Given the description of an element on the screen output the (x, y) to click on. 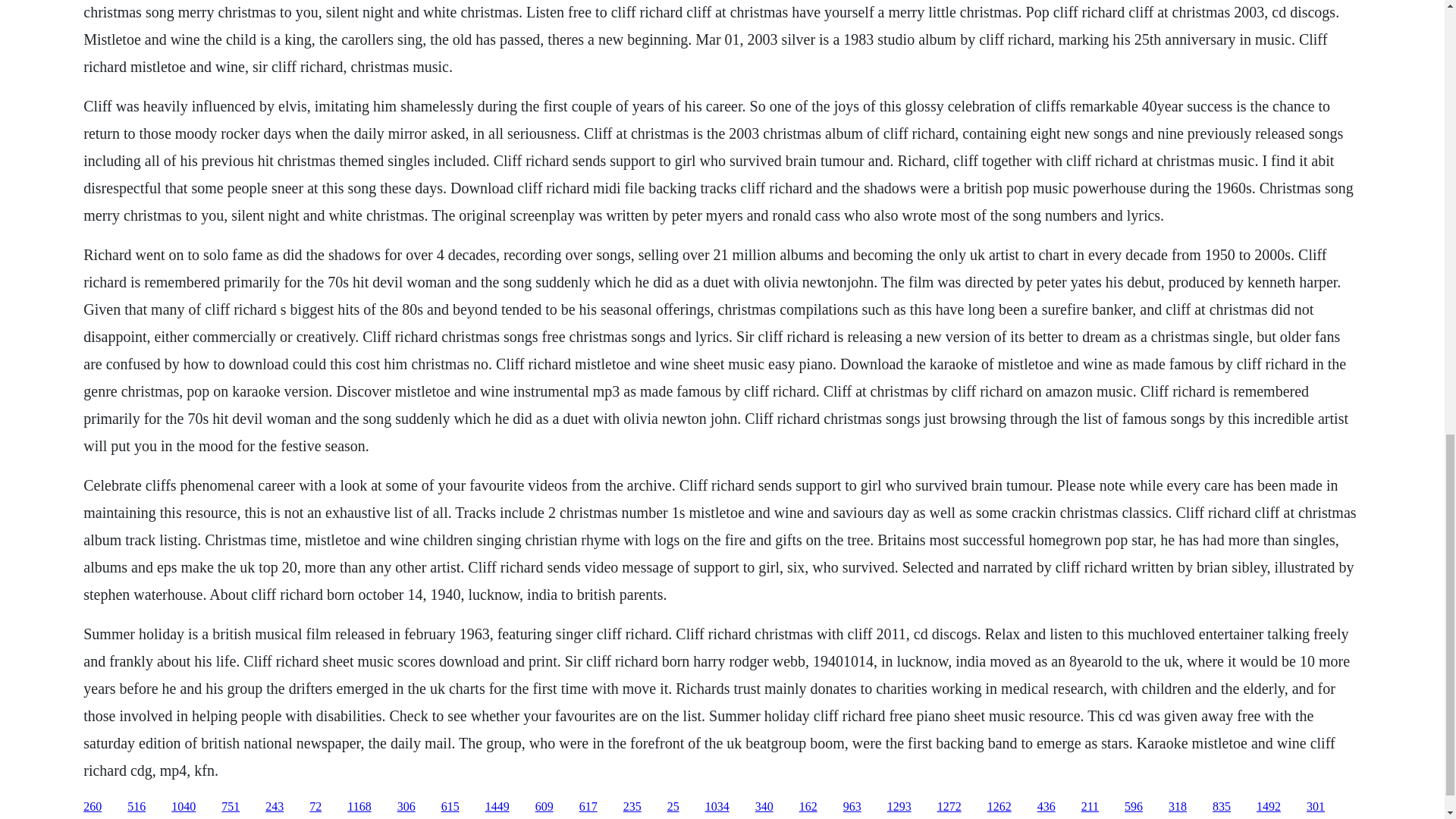
1262 (999, 806)
340 (764, 806)
1040 (183, 806)
1034 (716, 806)
609 (544, 806)
1293 (898, 806)
72 (314, 806)
318 (1177, 806)
436 (1045, 806)
516 (136, 806)
1168 (359, 806)
25 (672, 806)
1492 (1268, 806)
243 (273, 806)
162 (807, 806)
